Given the description of an element on the screen output the (x, y) to click on. 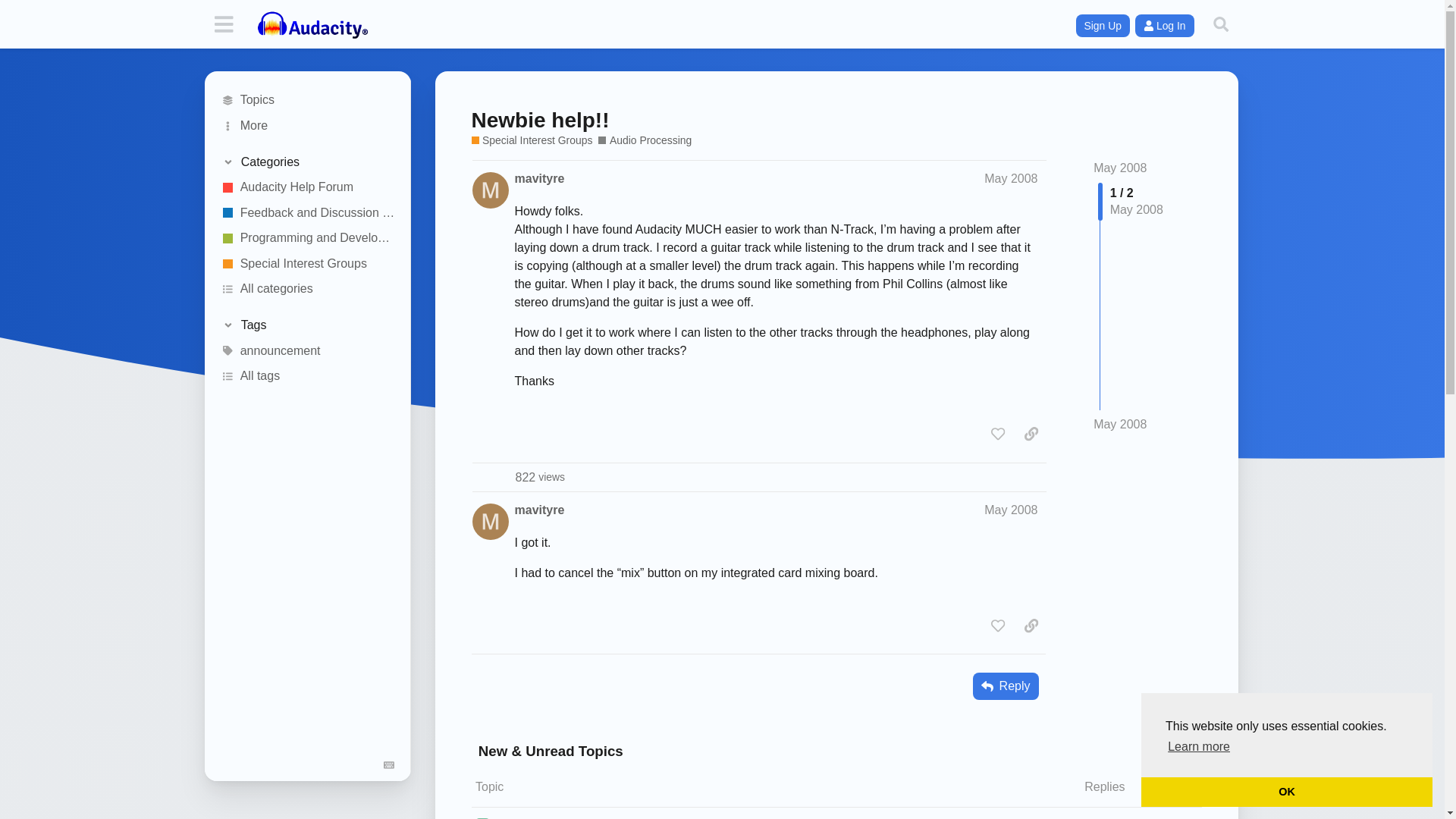
May 2008 (1010, 178)
Jump to the first post (1120, 167)
Search (1220, 23)
All categories (307, 289)
Share your feedback about Audacity in this forum! (307, 212)
Feedback and Discussion Forum (307, 212)
All topics (307, 100)
Topics which are adjacently related to Audacity go here. (531, 140)
May 2008 (1010, 509)
More (307, 125)
